Given the description of an element on the screen output the (x, y) to click on. 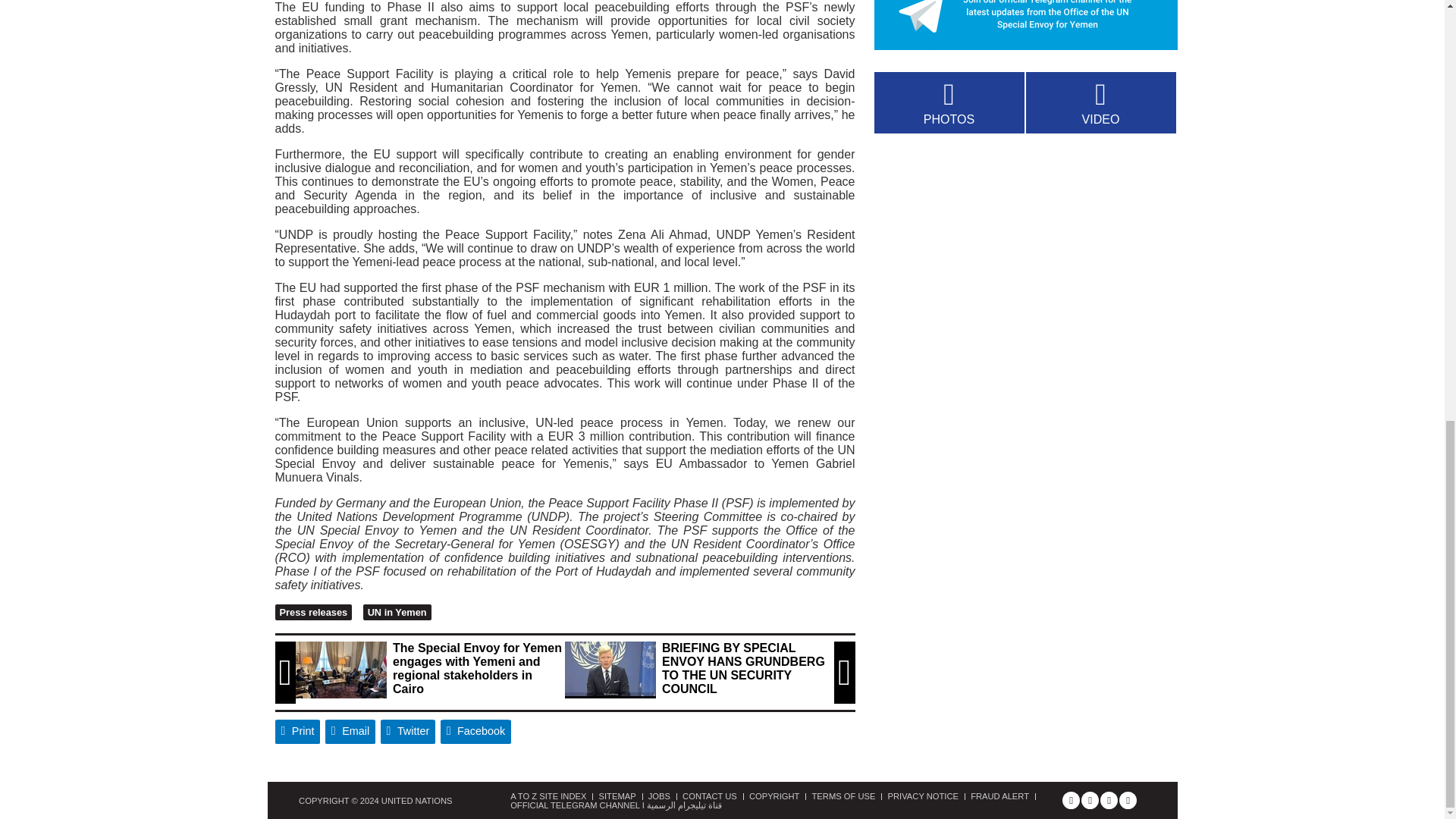
Print (297, 731)
Facebook (476, 731)
Twitter (407, 731)
Email (349, 731)
